Given the description of an element on the screen output the (x, y) to click on. 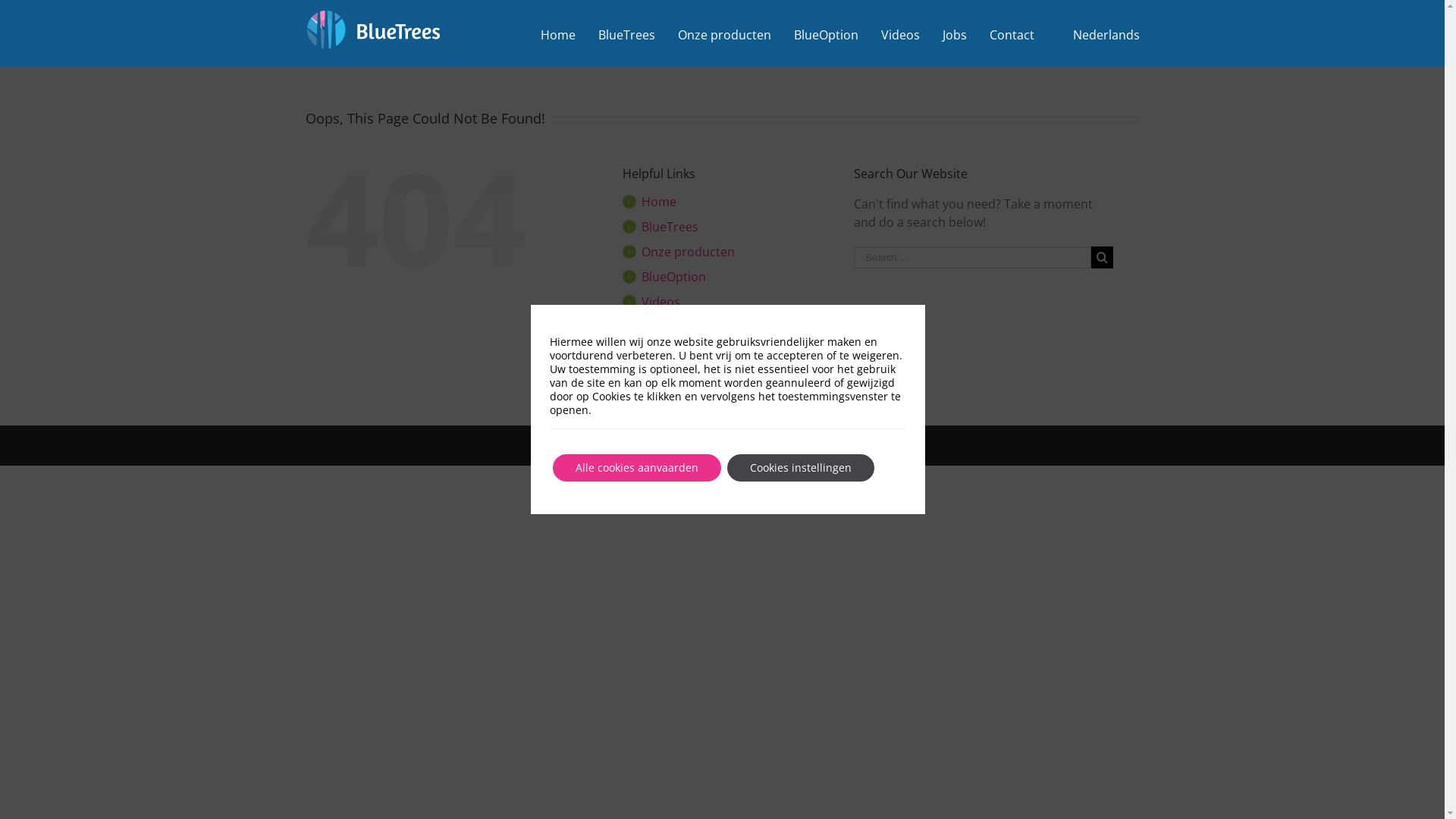
BlueTrees Element type: text (669, 226)
COOKIES Element type: text (798, 445)
BlueTrees Element type: text (626, 33)
BlueOption Element type: text (673, 276)
Home Element type: text (557, 33)
Contact Element type: text (663, 351)
BlueOption Element type: text (825, 33)
Onze producten Element type: text (687, 251)
Nederlands Element type: text (682, 376)
Onze producten Element type: text (724, 33)
Jobs Element type: text (653, 326)
Alle cookies aanvaarden Element type: text (636, 467)
GDPR Element type: text (756, 445)
Contact Element type: text (1011, 33)
Nederlands Element type: text (1098, 33)
Videos Element type: text (660, 301)
Cookies instellingen Element type: text (800, 467)
Videos Element type: text (900, 33)
Home Element type: text (658, 201)
Jobs Element type: text (954, 33)
